Given the description of an element on the screen output the (x, y) to click on. 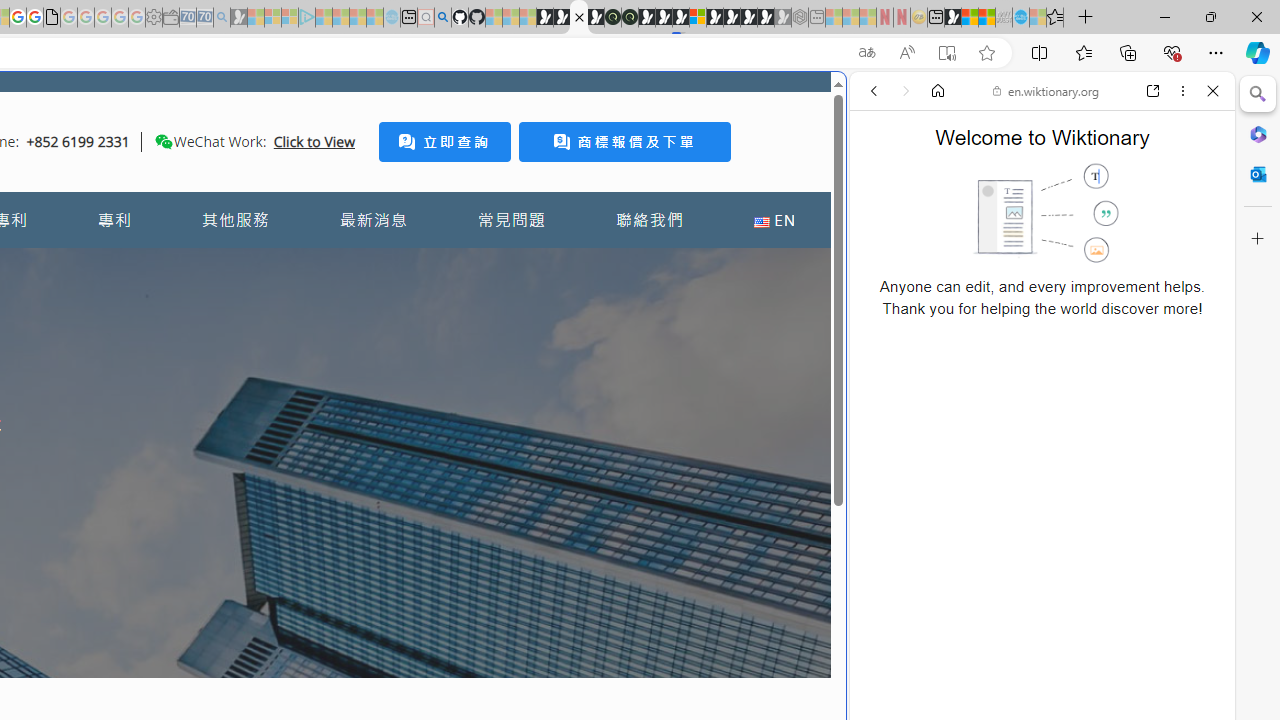
Microsoft Start - Sleeping (357, 17)
This site scope (936, 180)
Close split screen (844, 102)
Class: b_serphb (1190, 229)
